Given the description of an element on the screen output the (x, y) to click on. 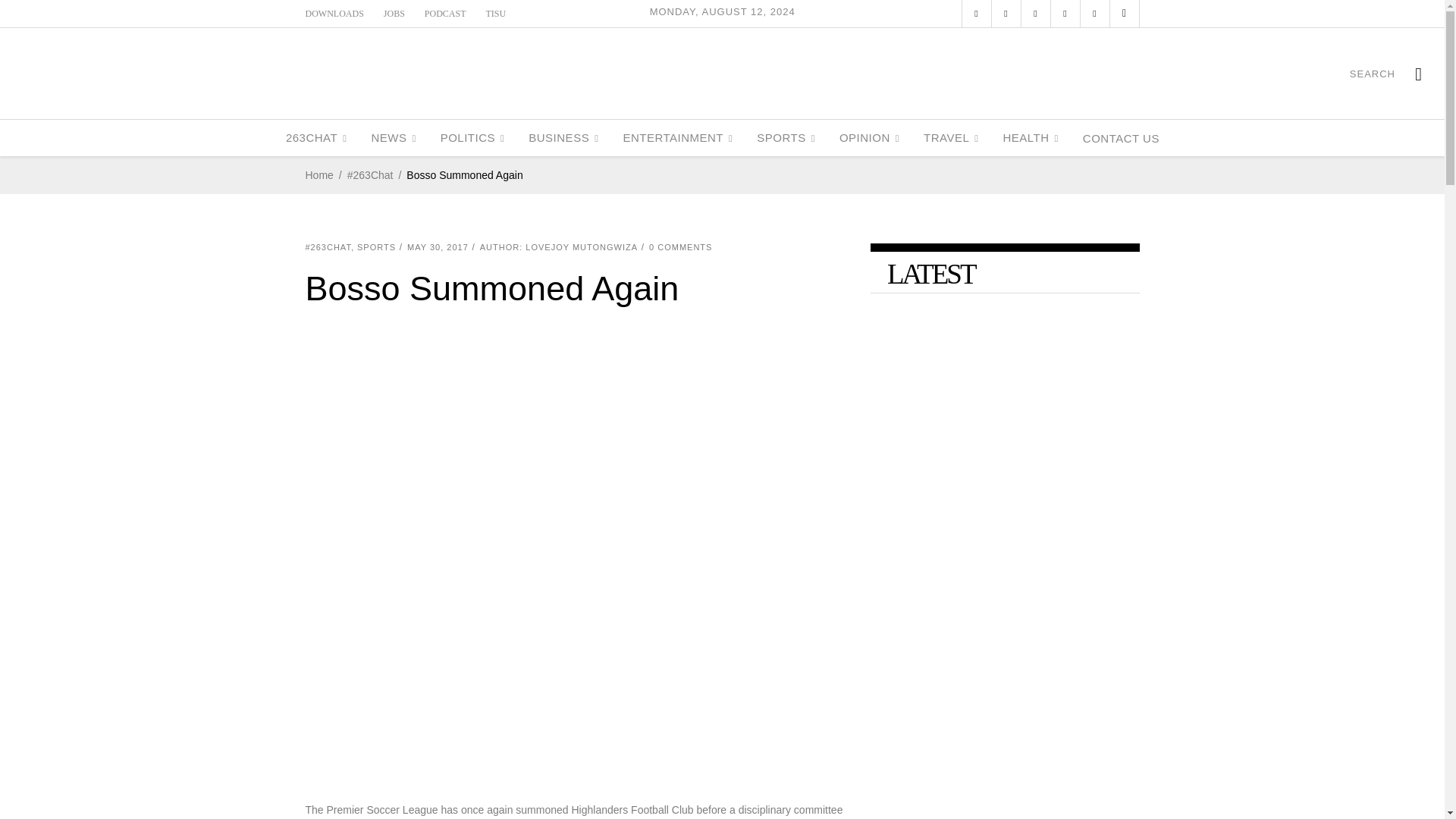
POLITICS (472, 137)
PODCAST (445, 13)
263CHAT (316, 137)
TISU (496, 13)
DOWNLOADS (333, 13)
JOBS (394, 13)
NEWS (393, 137)
